Given the description of an element on the screen output the (x, y) to click on. 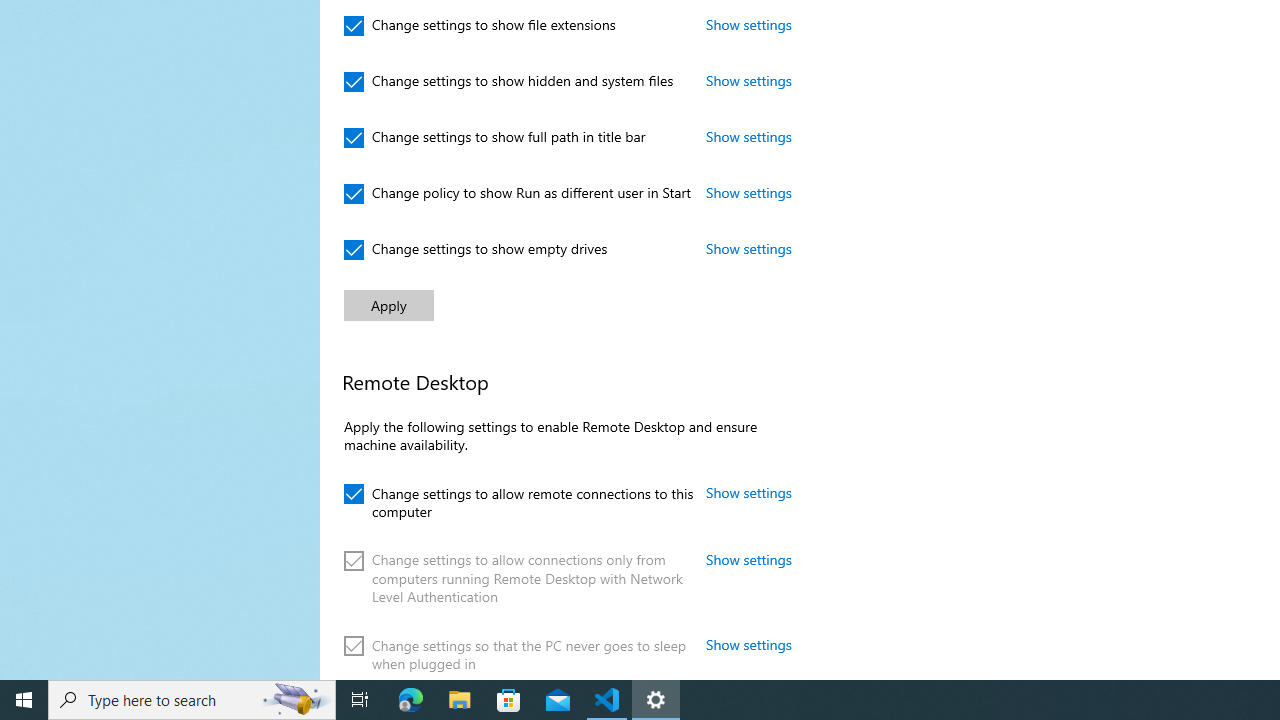
Apply (388, 305)
Change settings to allow remote connections to this computer (518, 499)
Change settings to show empty drives (476, 249)
Change settings to show full path in title bar (495, 137)
Show settings: Change settings to show empty drives (749, 248)
